Given the description of an element on the screen output the (x, y) to click on. 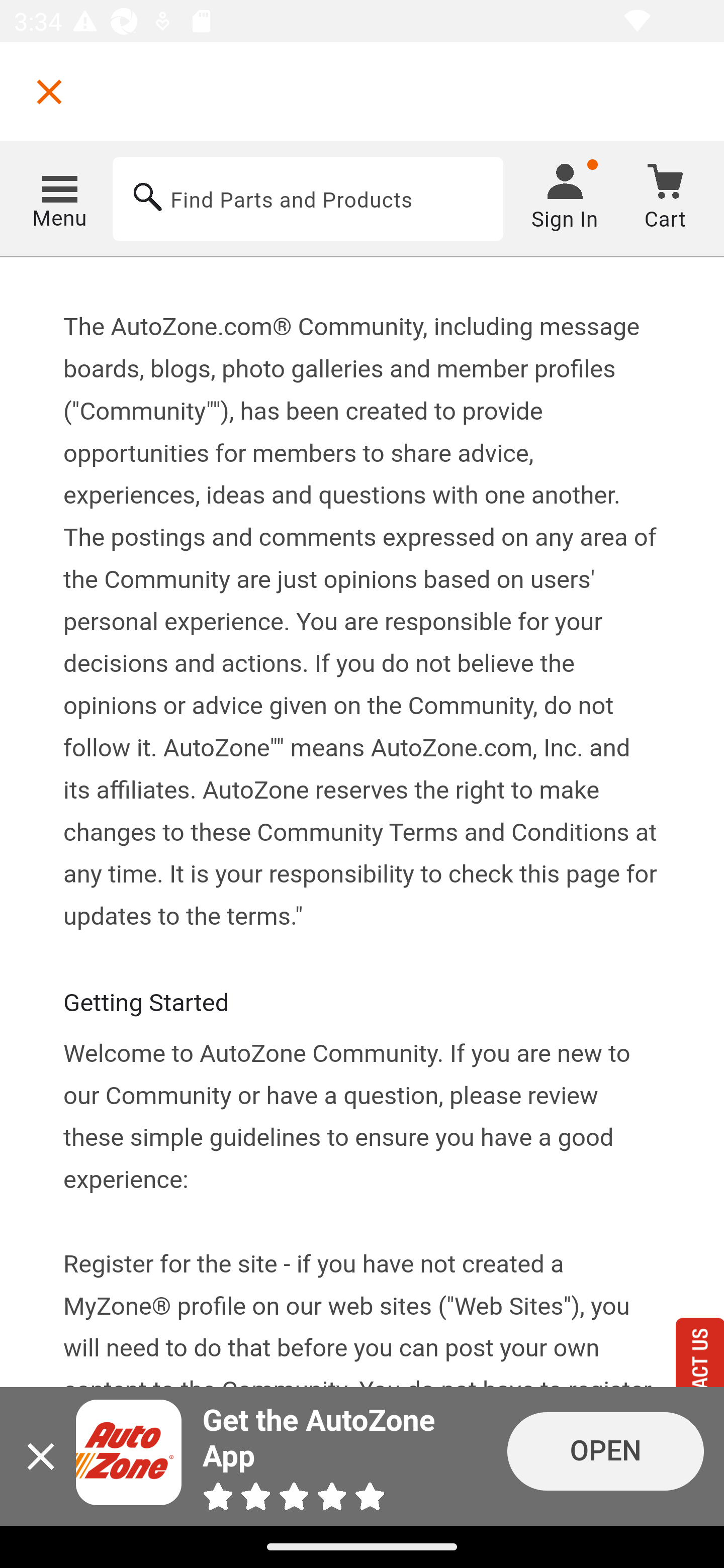
 (49, 91)
Close icon Get the AutoZone App OPEN (362, 1456)
